Given the description of an element on the screen output the (x, y) to click on. 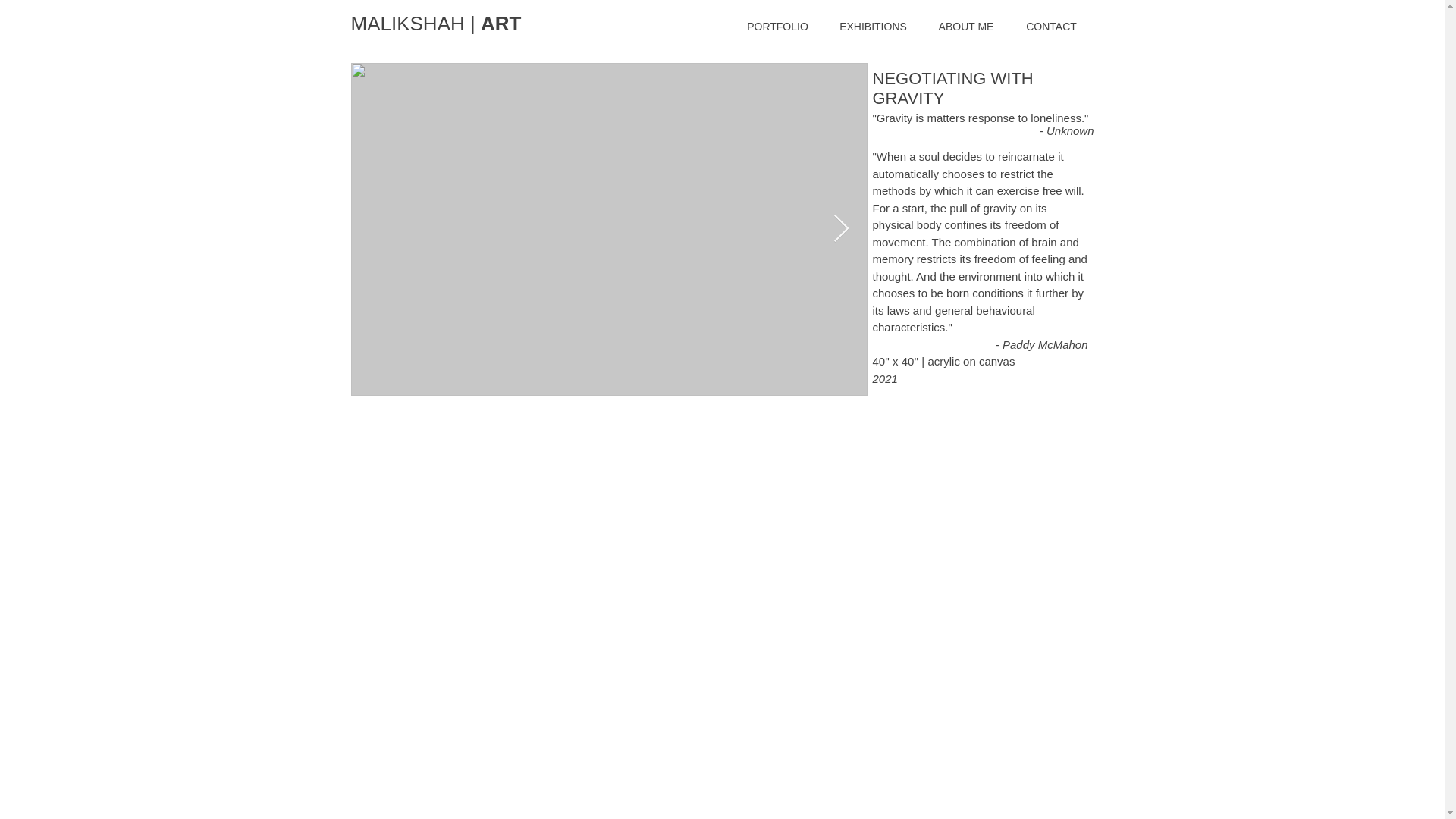
CONTACT (1051, 26)
ABOUT ME (965, 26)
PORTFOLIO (777, 26)
EXHIBITIONS (872, 26)
